Given the description of an element on the screen output the (x, y) to click on. 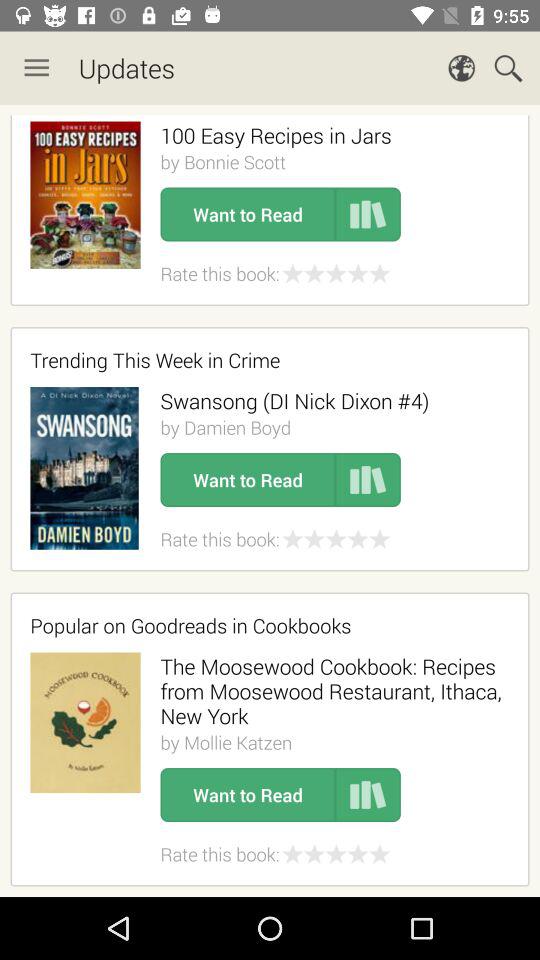
flip until 100 easy recipes item (275, 135)
